Given the description of an element on the screen output the (x, y) to click on. 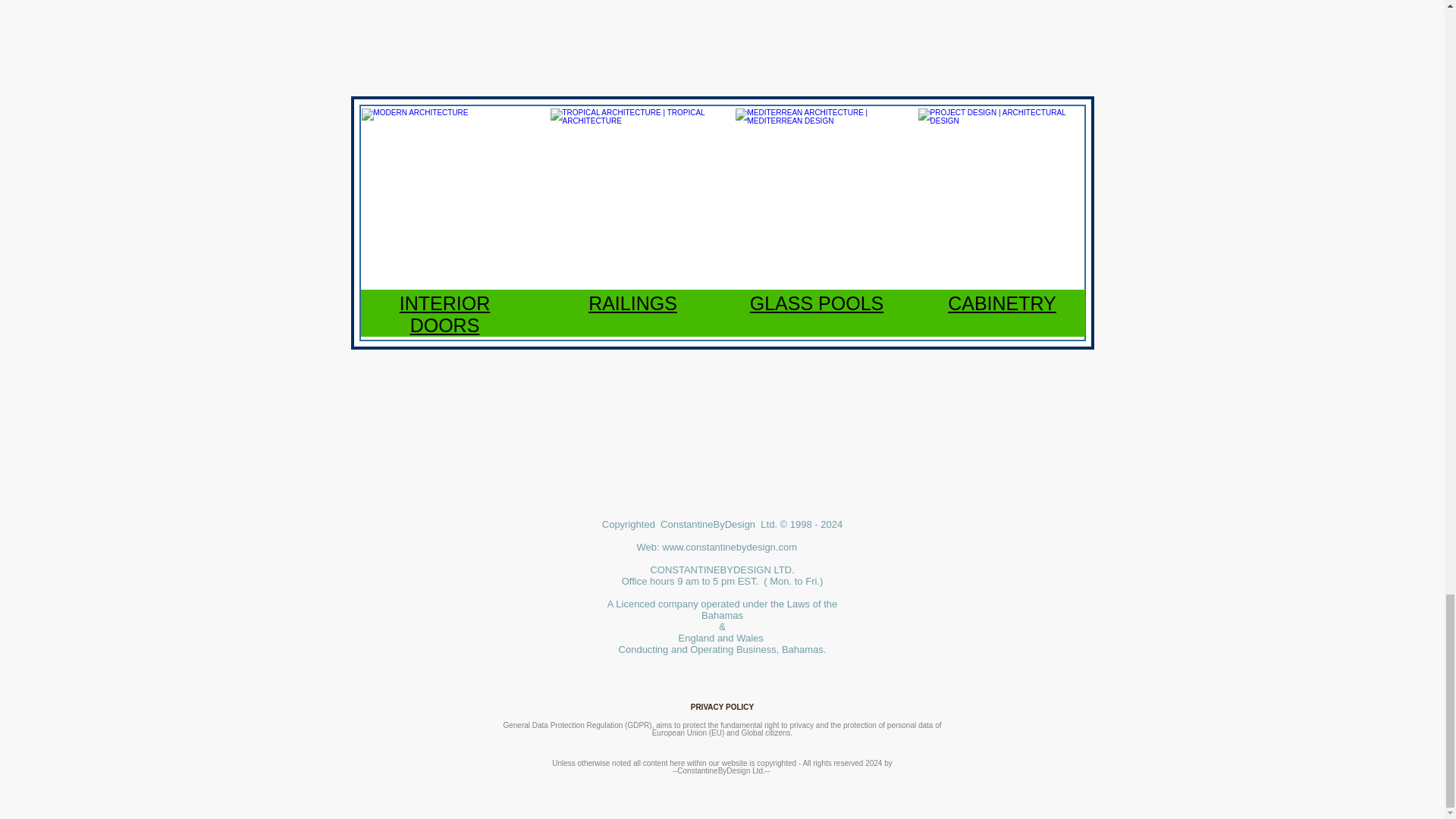
CABINETRY (1002, 302)
GLASS POOLS (816, 302)
RAILINGS (632, 302)
INTERIOR DOORS (443, 313)
